Given the description of an element on the screen output the (x, y) to click on. 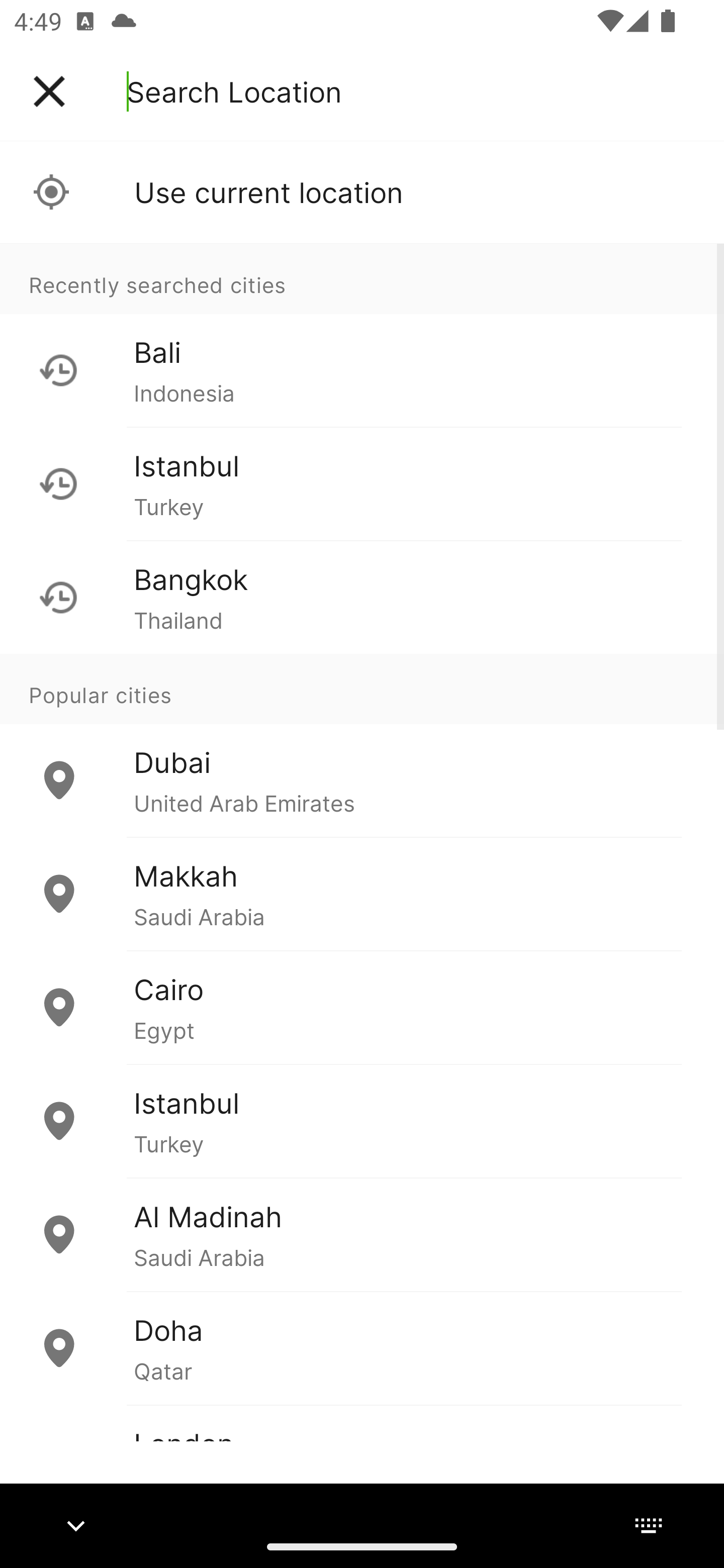
Search Location (234, 91)
Use current location (362, 192)
Recently searched cities Bali Indonesia (362, 334)
Recently searched cities (362, 278)
Istanbul Turkey (362, 483)
Bangkok Thailand (362, 596)
Popular cities Dubai United Arab Emirates (362, 745)
Popular cities (362, 688)
Makkah Saudi Arabia (362, 893)
Cairo Egypt (362, 1007)
Istanbul Turkey (362, 1120)
Al Madinah Saudi Arabia (362, 1233)
Doha Qatar (362, 1347)
